Given the description of an element on the screen output the (x, y) to click on. 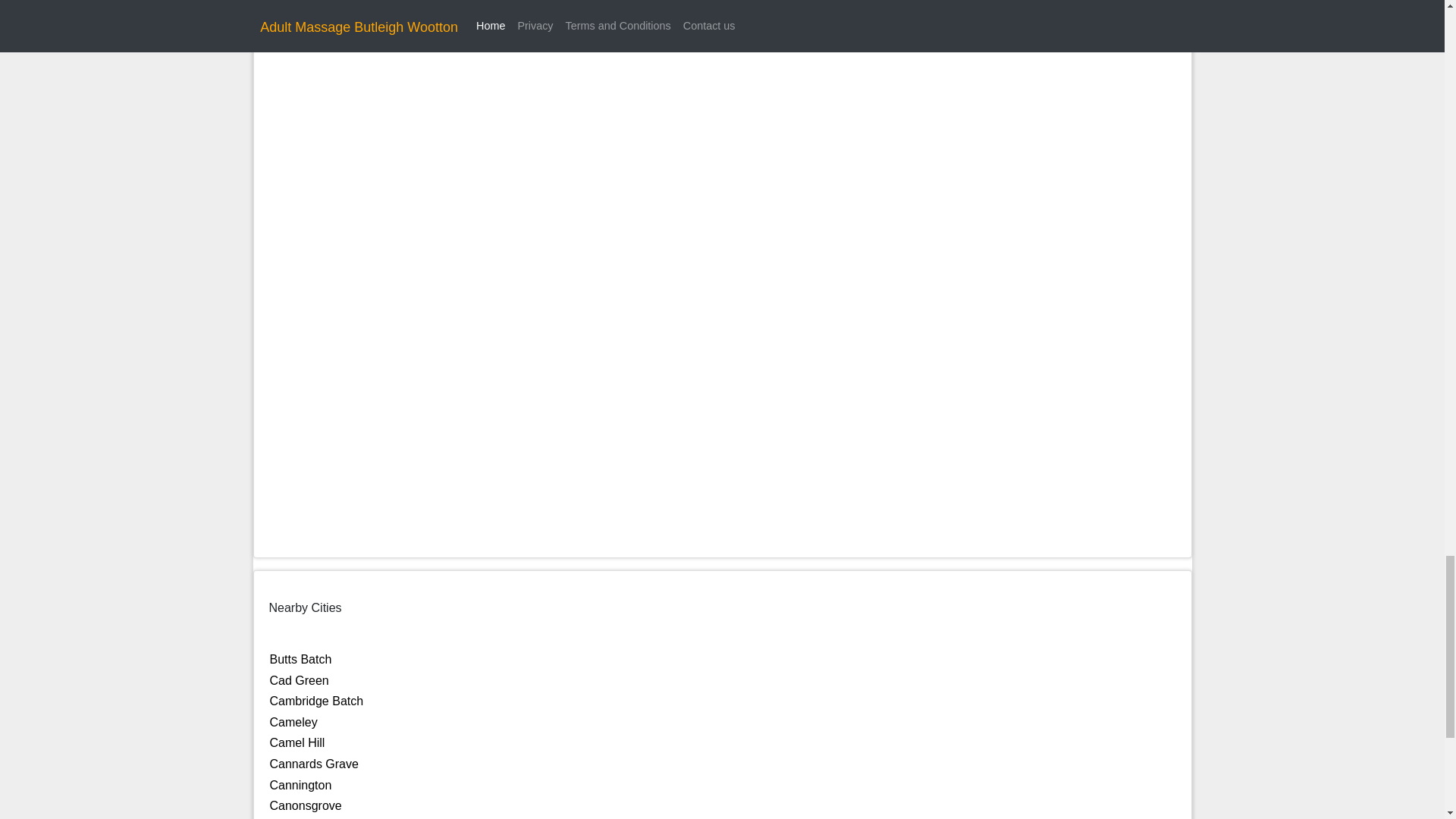
Canonsgrove (305, 805)
Cannards Grave (313, 763)
Butts Batch (300, 658)
Cannington (300, 784)
Cambridge Batch (316, 700)
Cad Green (299, 680)
Camel Hill (296, 742)
Cameley (293, 721)
